Given the description of an element on the screen output the (x, y) to click on. 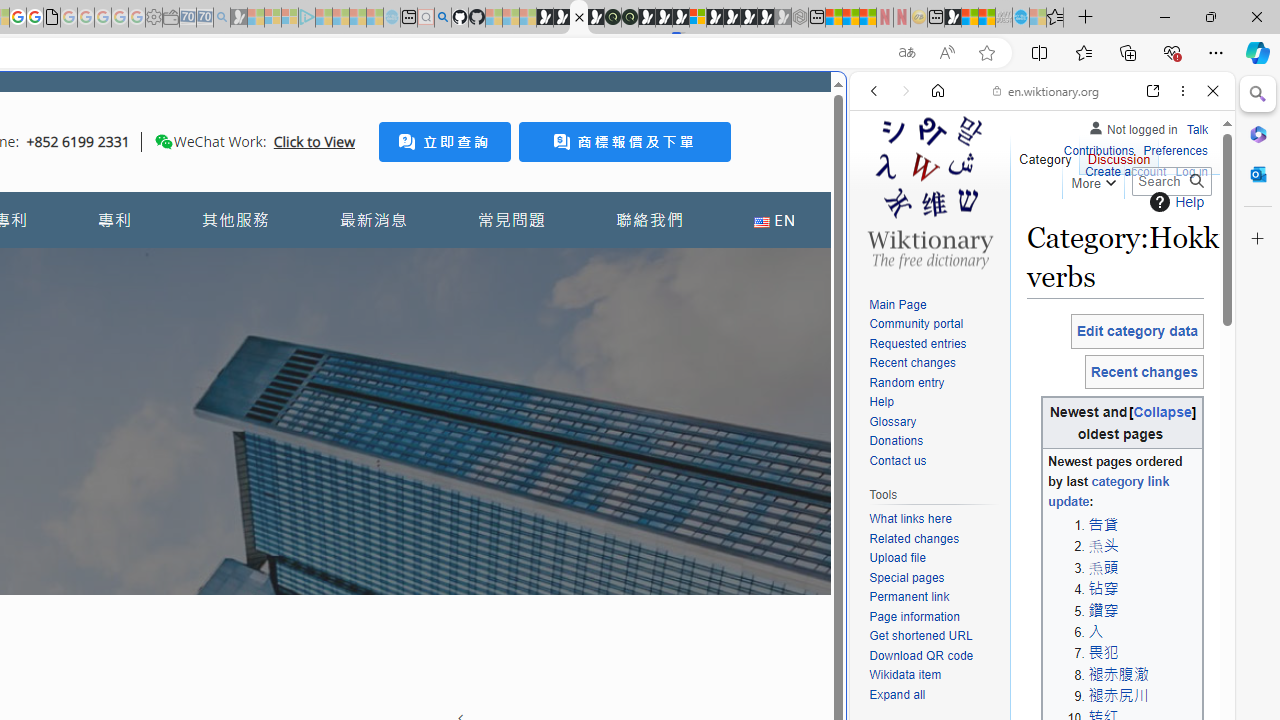
Main Page (934, 305)
Talk (1197, 126)
Contributions (1098, 151)
Contact us (934, 461)
